Given the description of an element on the screen output the (x, y) to click on. 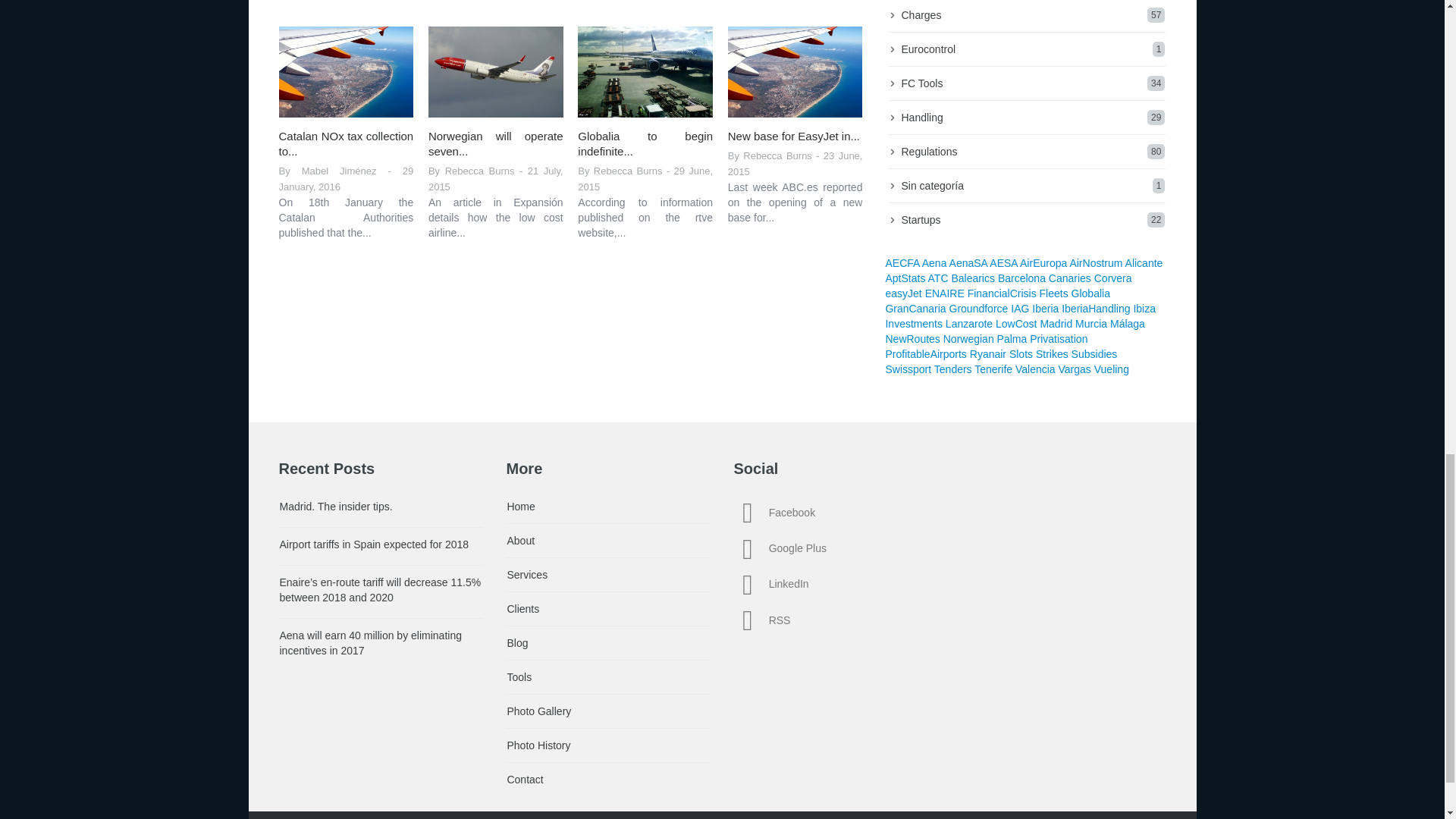
Permalink to Catalan NOx tax collection to commence (346, 70)
Catalan NOx tax collection to commence (346, 143)
